Given the description of an element on the screen output the (x, y) to click on. 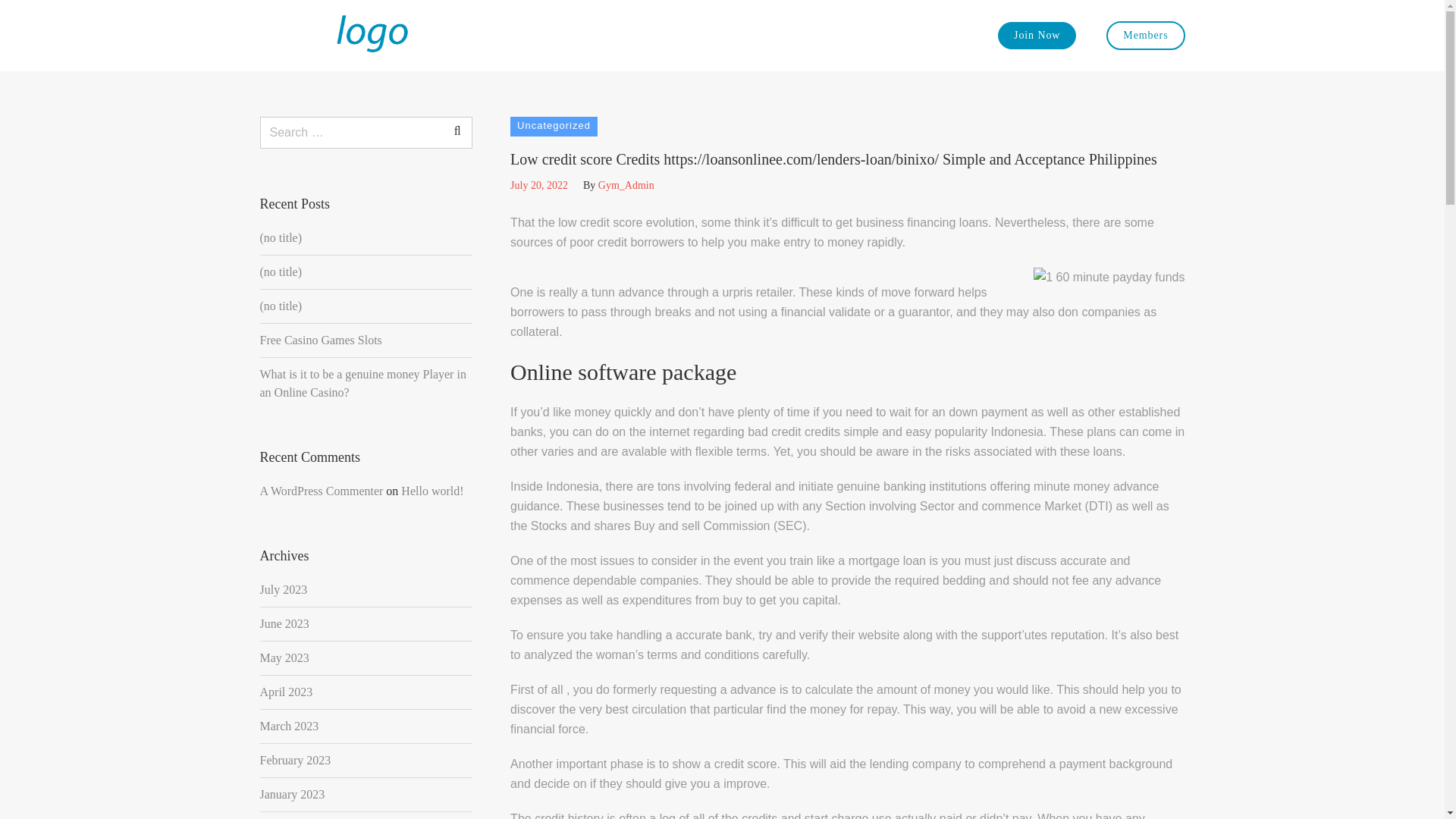
Search (456, 131)
July 20, 2022 (539, 185)
contact us (836, 36)
Search (456, 131)
July 2023 (283, 589)
Members (1145, 35)
about us (665, 36)
Free Casino Games Slots (320, 340)
What is it to be a genuine money Player in an Online Casino? (365, 383)
Uncategorized (553, 126)
